Given the description of an element on the screen output the (x, y) to click on. 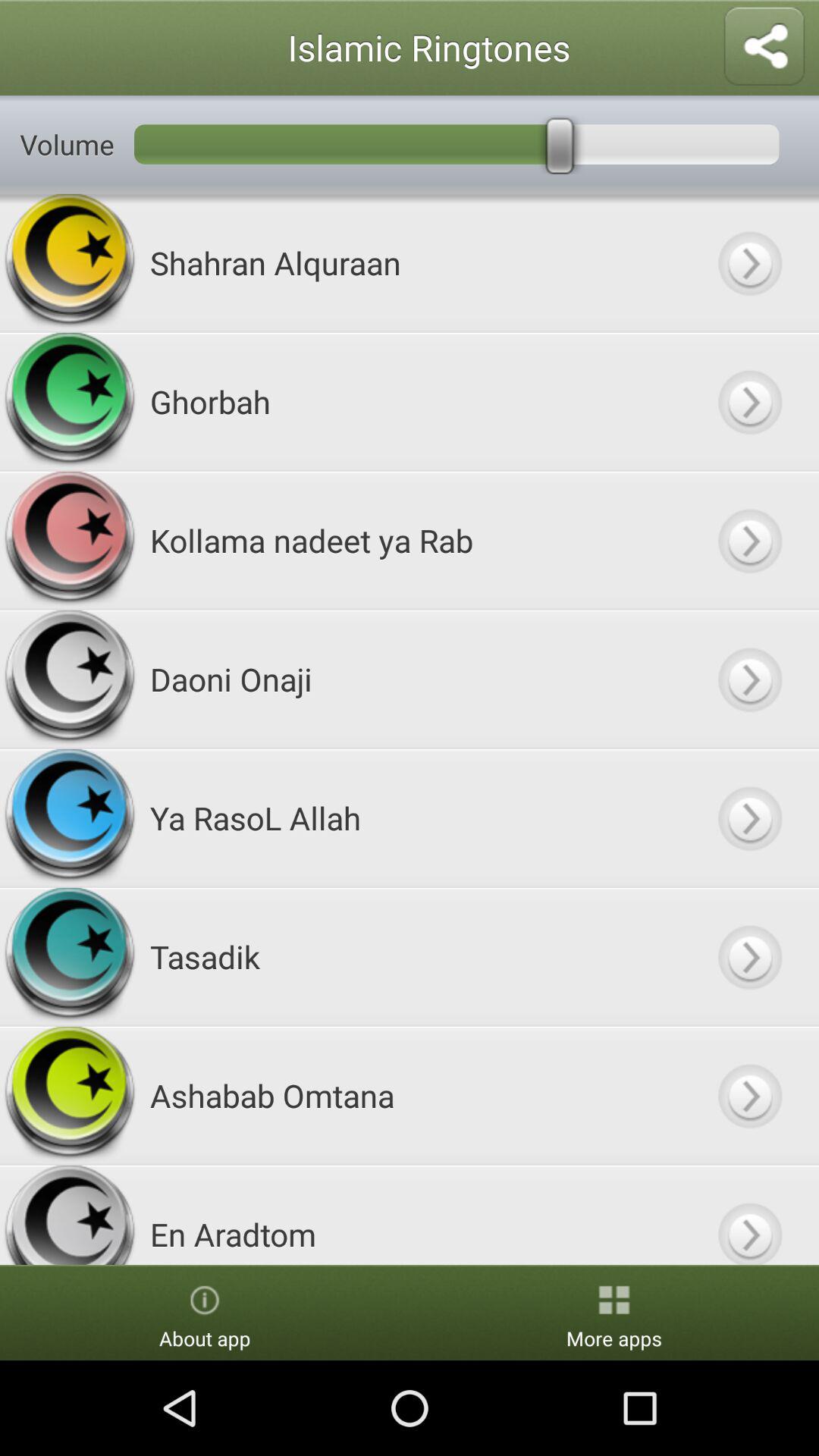
go to previous (749, 1095)
